Given the description of an element on the screen output the (x, y) to click on. 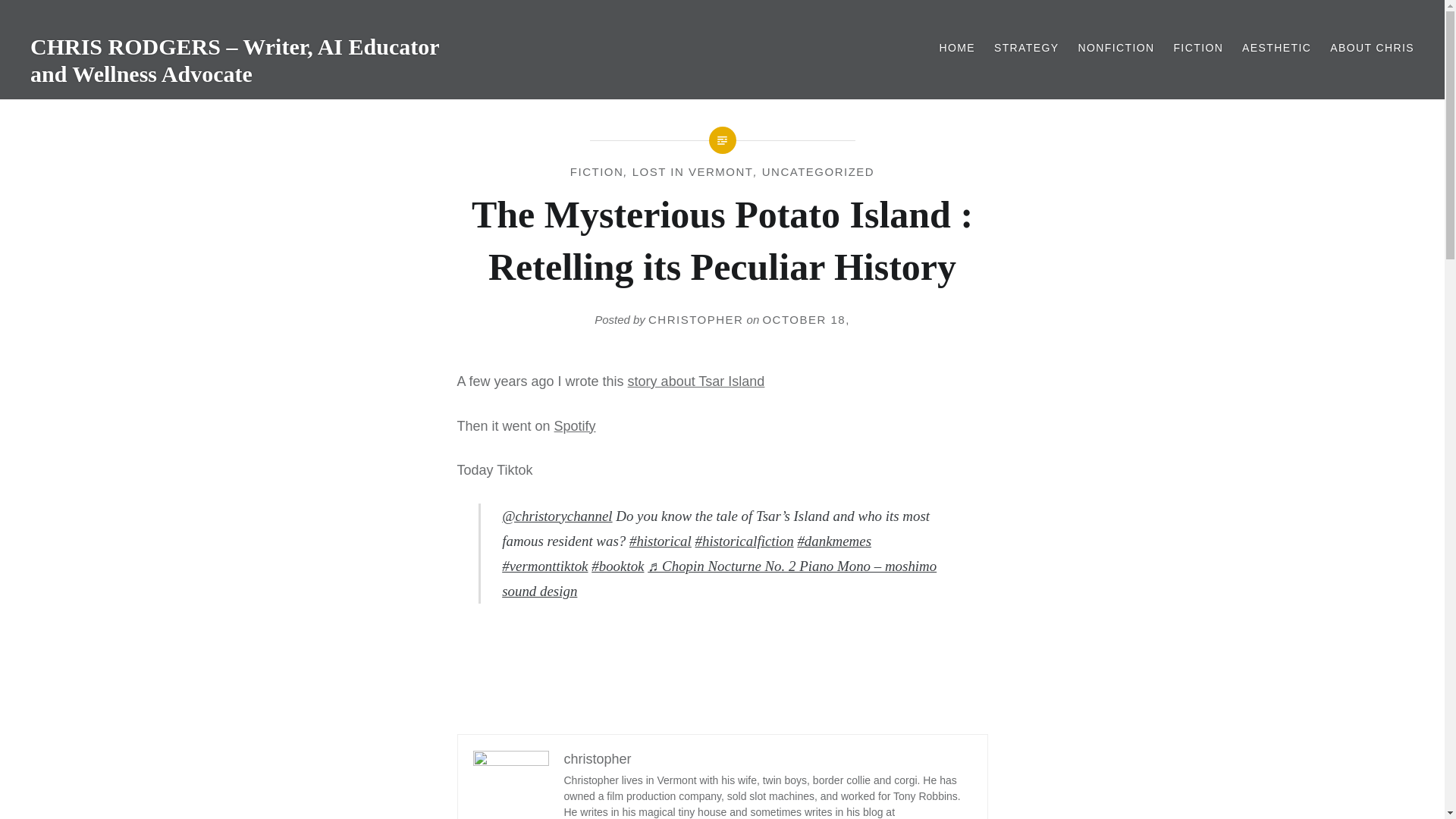
UNCATEGORIZED (818, 171)
dankmemes (833, 540)
booktok (617, 565)
historical (659, 540)
OCTOBER 18, (804, 318)
CHRISTOPHER (694, 318)
LOST IN VERMONT (692, 171)
FICTION (597, 171)
vermonttiktok (545, 565)
historicalfiction (744, 540)
HOME (957, 47)
ABOUT CHRIS (1371, 47)
STRATEGY (1026, 47)
FICTION (1198, 47)
AESTHETIC (1276, 47)
